Given the description of an element on the screen output the (x, y) to click on. 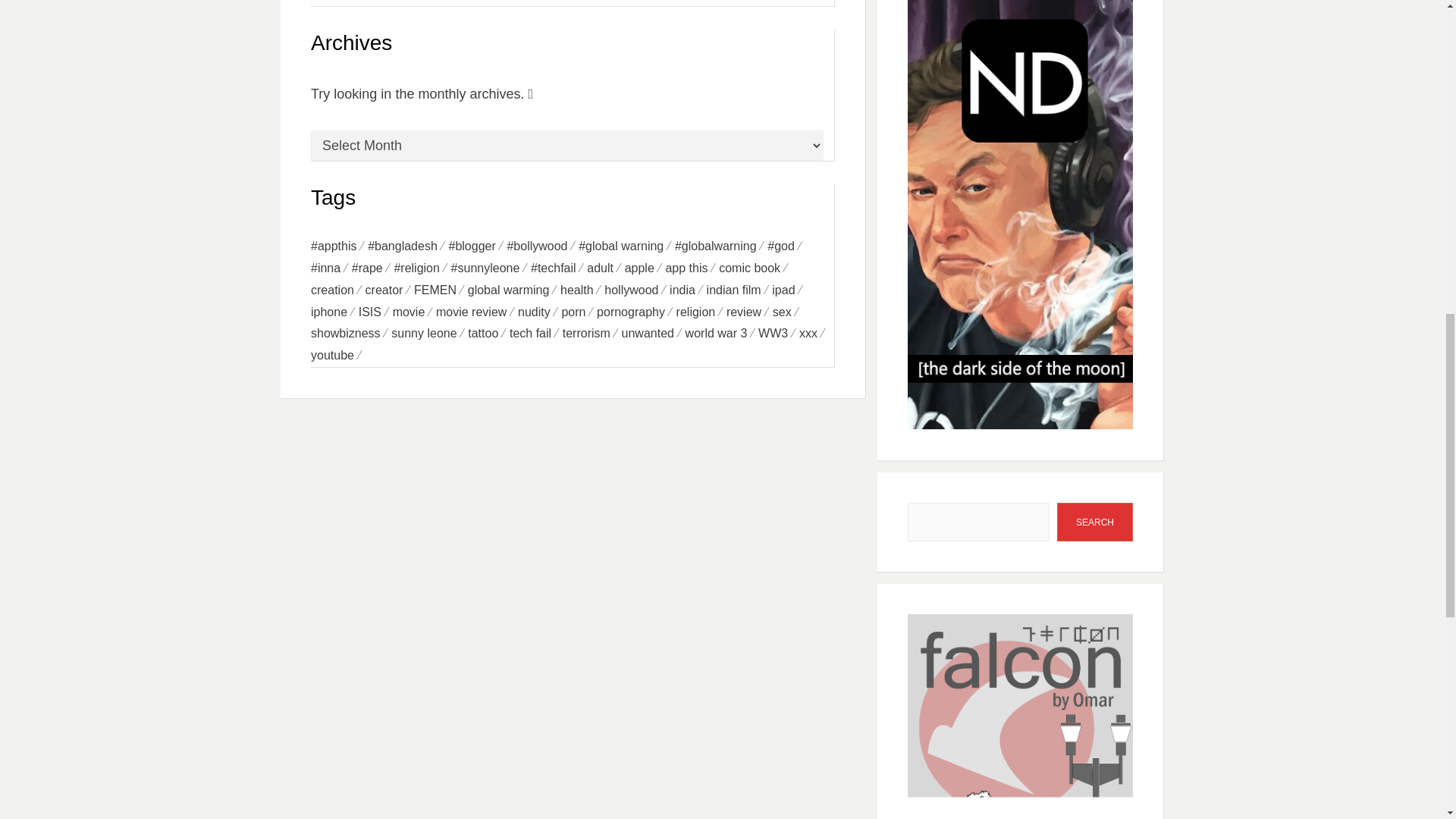
comic book (755, 268)
adult (605, 268)
app this (692, 268)
apple (644, 268)
